Given the description of an element on the screen output the (x, y) to click on. 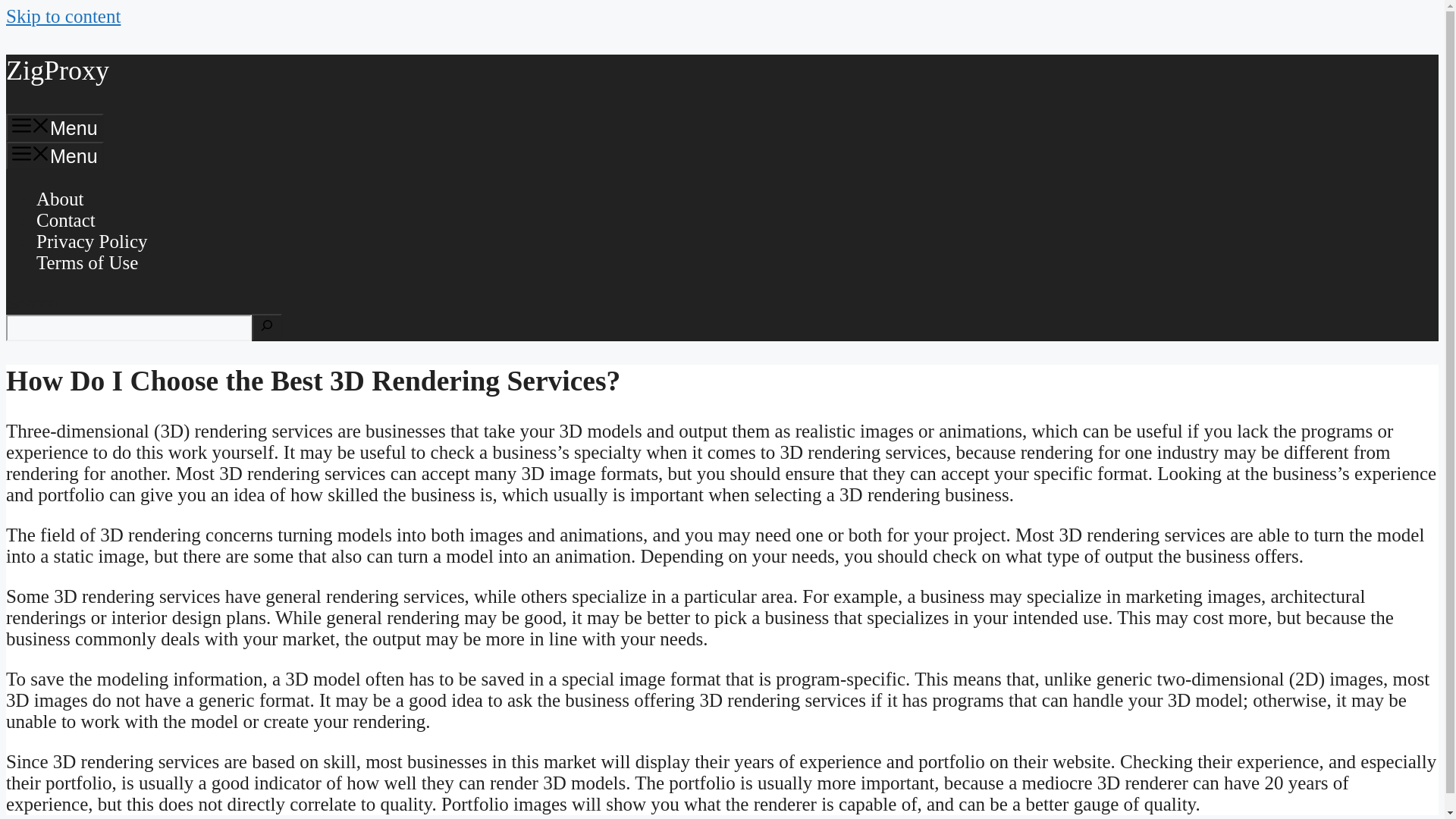
Privacy Policy (92, 240)
ZigProxy (57, 70)
Menu (54, 155)
Contact (66, 219)
About (60, 199)
Menu (54, 127)
Terms of Use (87, 262)
Skip to content (62, 15)
Skip to content (62, 15)
